Given the description of an element on the screen output the (x, y) to click on. 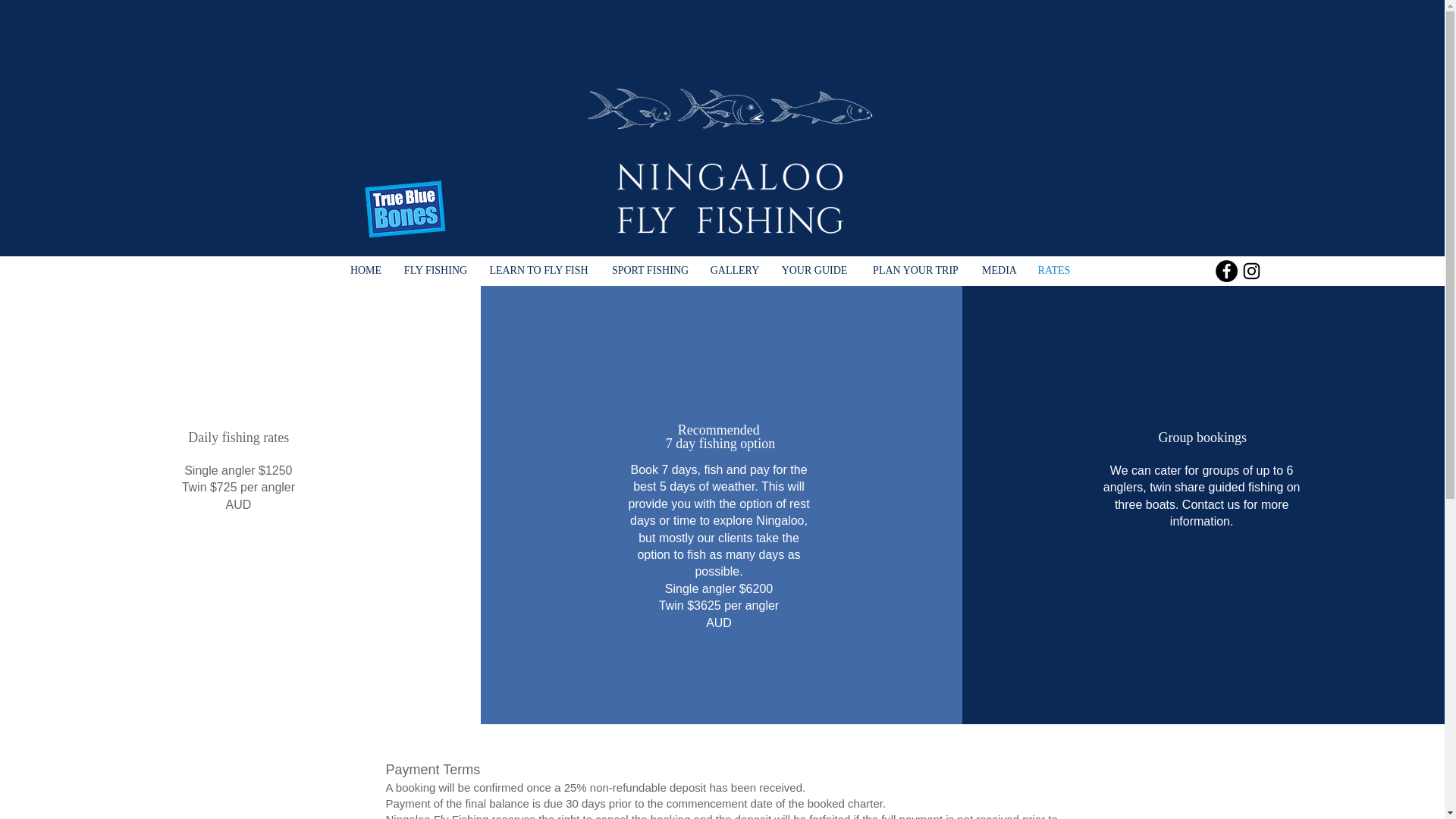
YOUR GUIDE (814, 269)
FLY FISHING (435, 269)
SPORT FISHING (649, 269)
LEARN TO FLY FISH (537, 269)
GALLERY (734, 269)
HOME (365, 269)
PLAN YOUR TRIP (915, 269)
MEDIA (999, 269)
RATES (1053, 269)
